Given the description of an element on the screen output the (x, y) to click on. 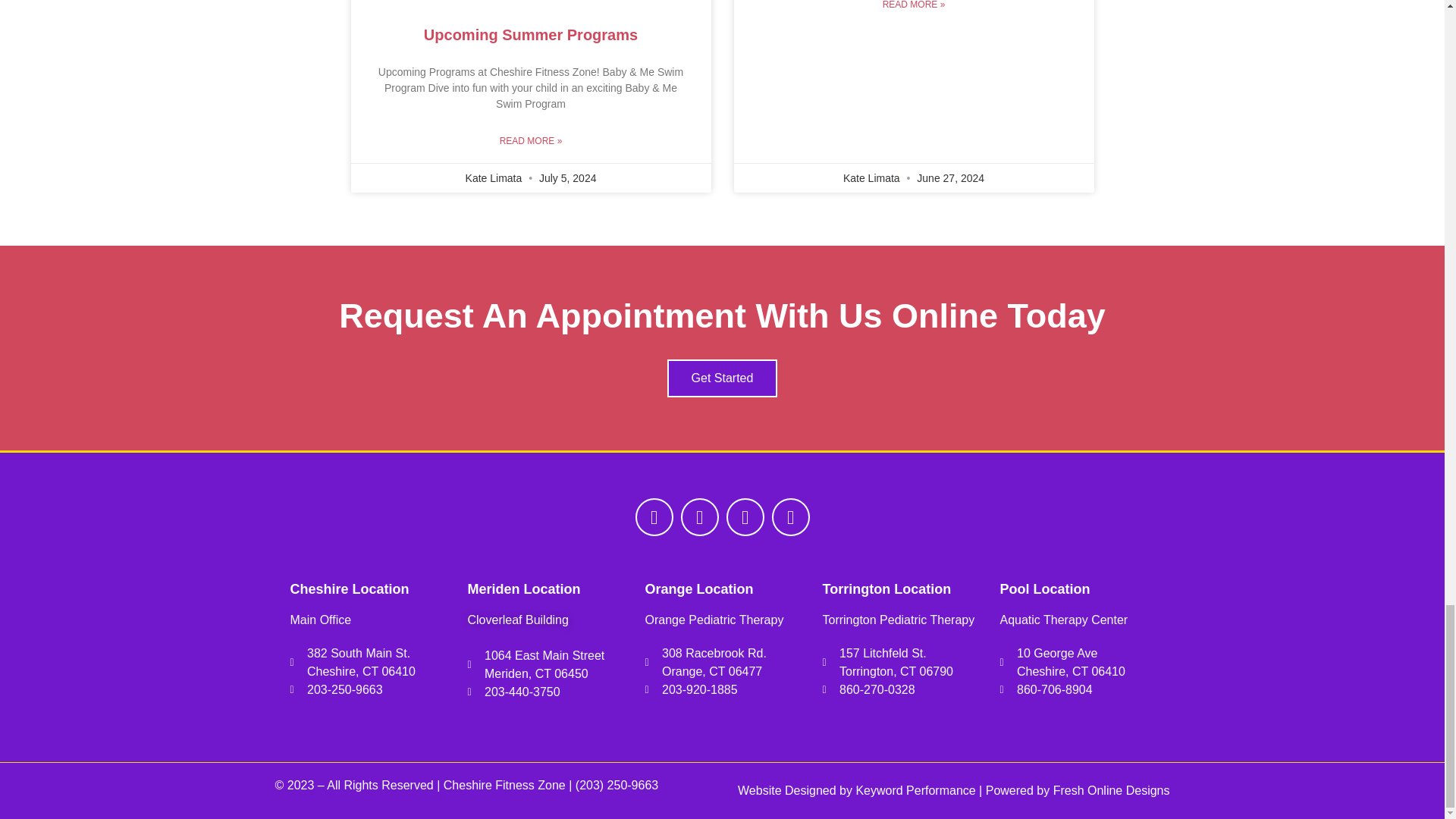
Fresh Online Web Designs, Cheshire, CT (1111, 789)
